Given the description of an element on the screen output the (x, y) to click on. 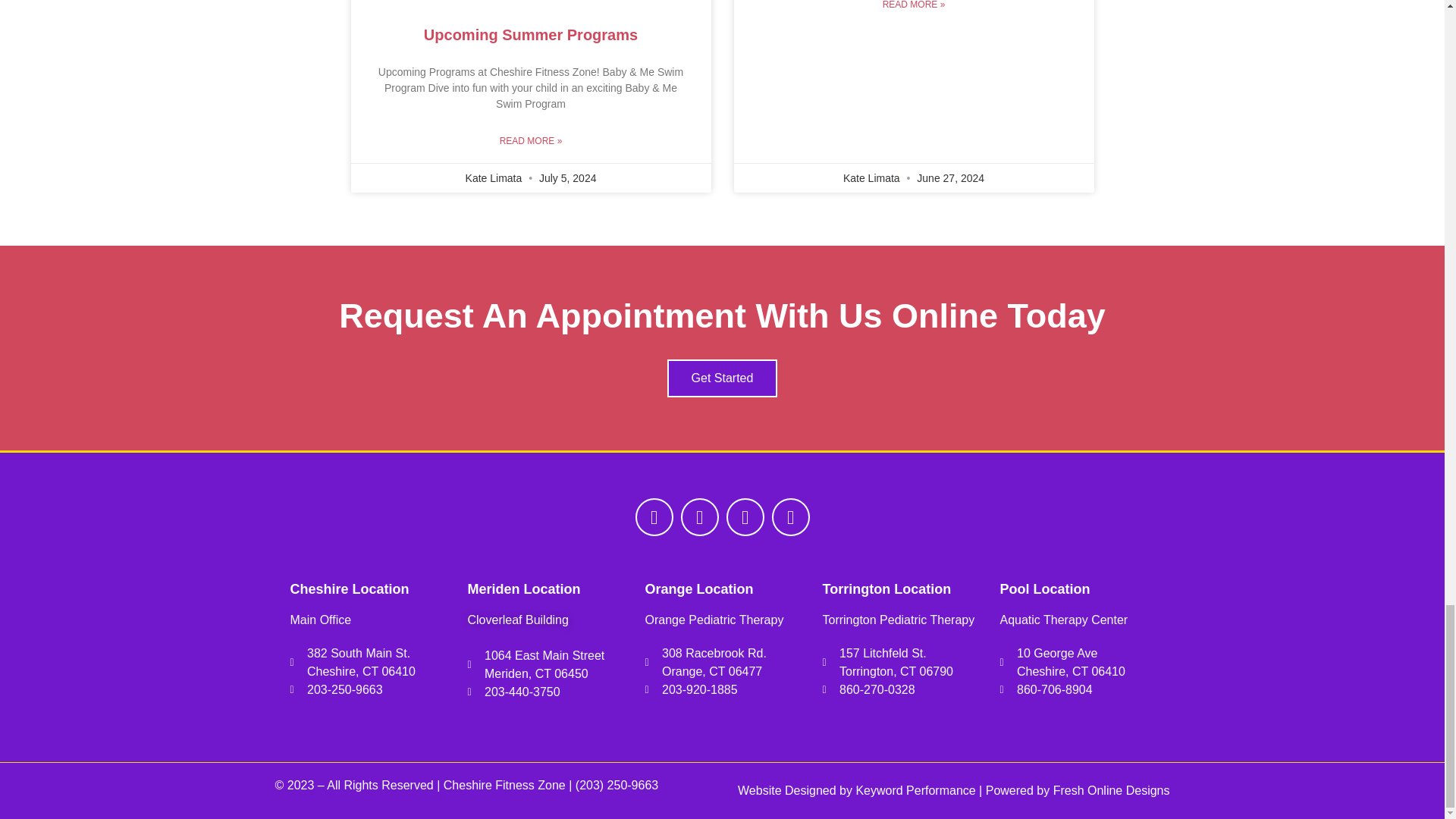
Fresh Online Web Designs, Cheshire, CT (1111, 789)
